Given the description of an element on the screen output the (x, y) to click on. 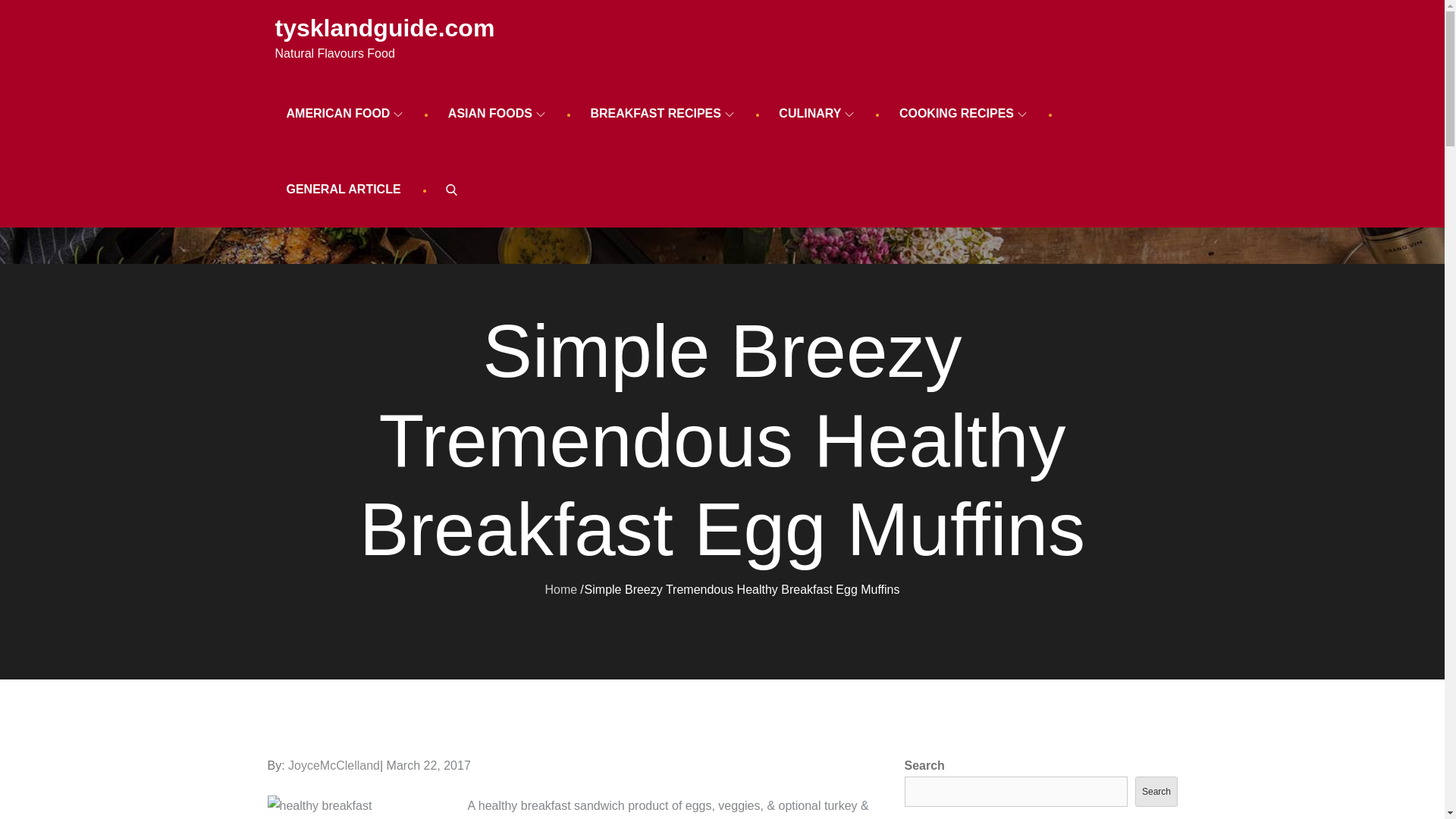
GENERAL ARTICLE (343, 189)
AMERICAN FOOD (344, 113)
Home (560, 588)
ASIAN FOODS (496, 113)
BREAKFAST RECIPES (661, 113)
March 22, 2017 (428, 765)
tysklandguide.com (385, 27)
CULINARY (815, 113)
COOKING RECIPES (963, 113)
JoyceMcClelland (334, 765)
